Given the description of an element on the screen output the (x, y) to click on. 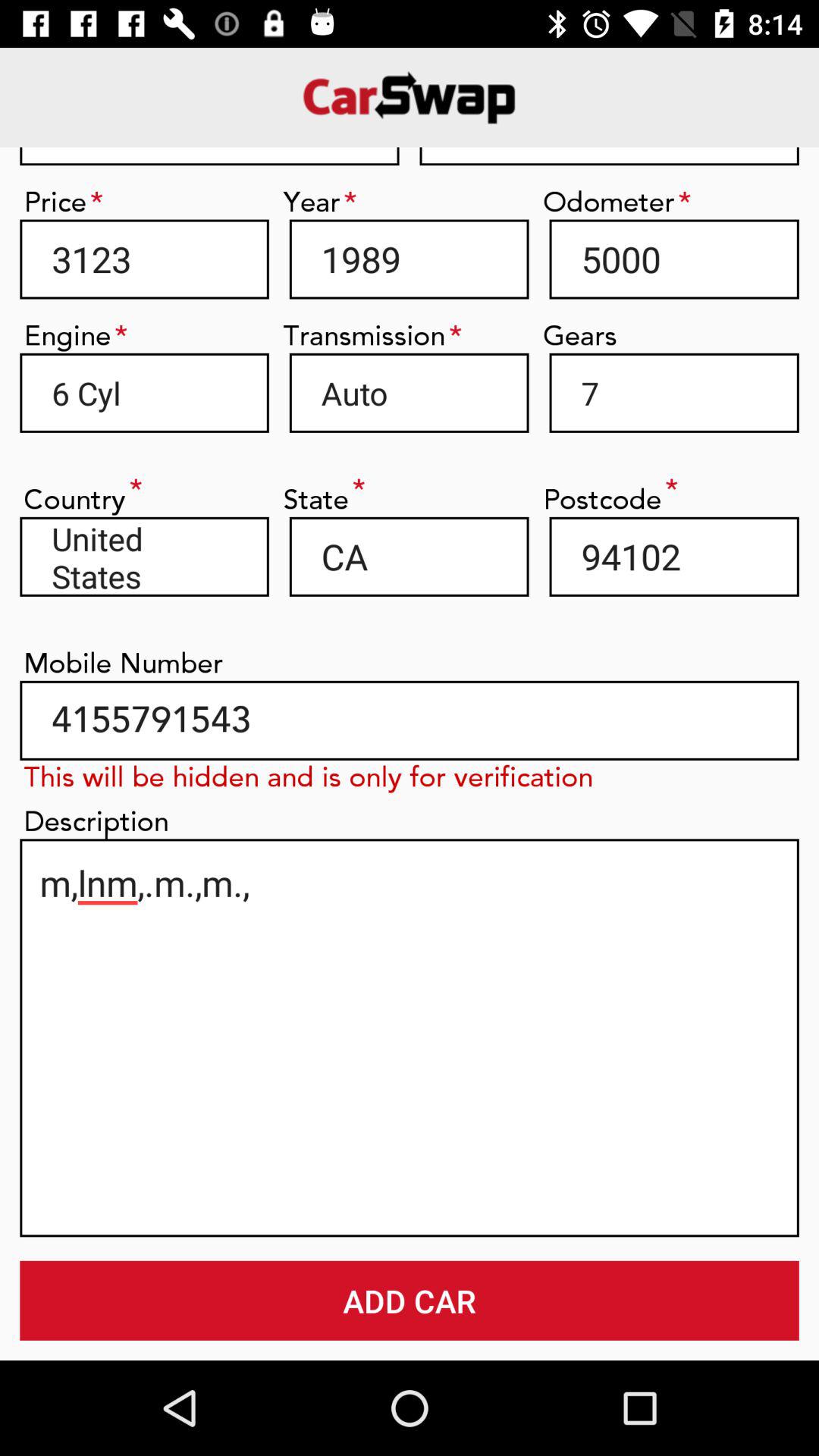
flip until 3123 icon (144, 259)
